Given the description of an element on the screen output the (x, y) to click on. 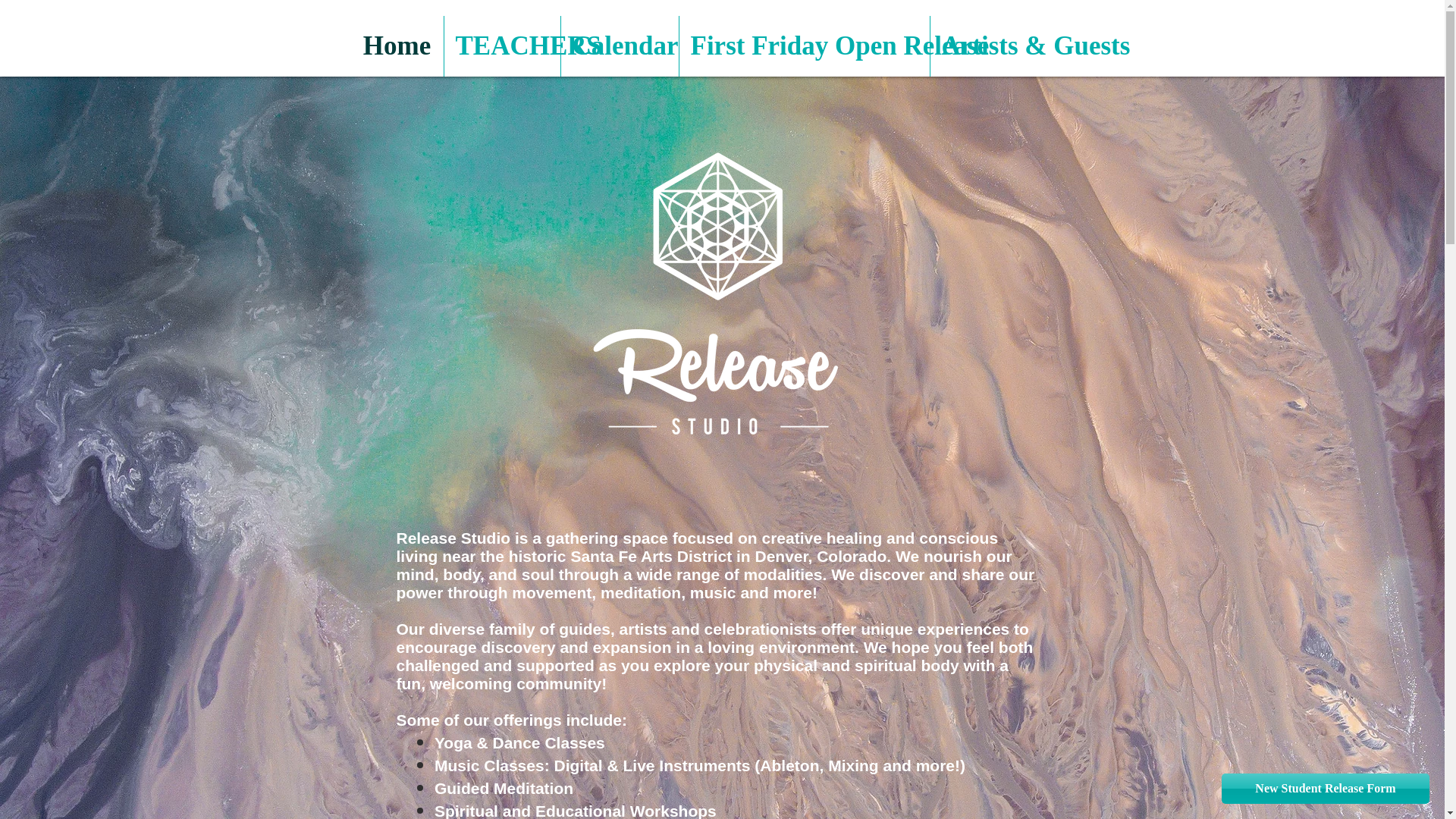
New Student Release Form (1325, 788)
TEACHERS (502, 45)
Home (396, 45)
Calendar (619, 45)
First Friday Open Release (804, 45)
